Given the description of an element on the screen output the (x, y) to click on. 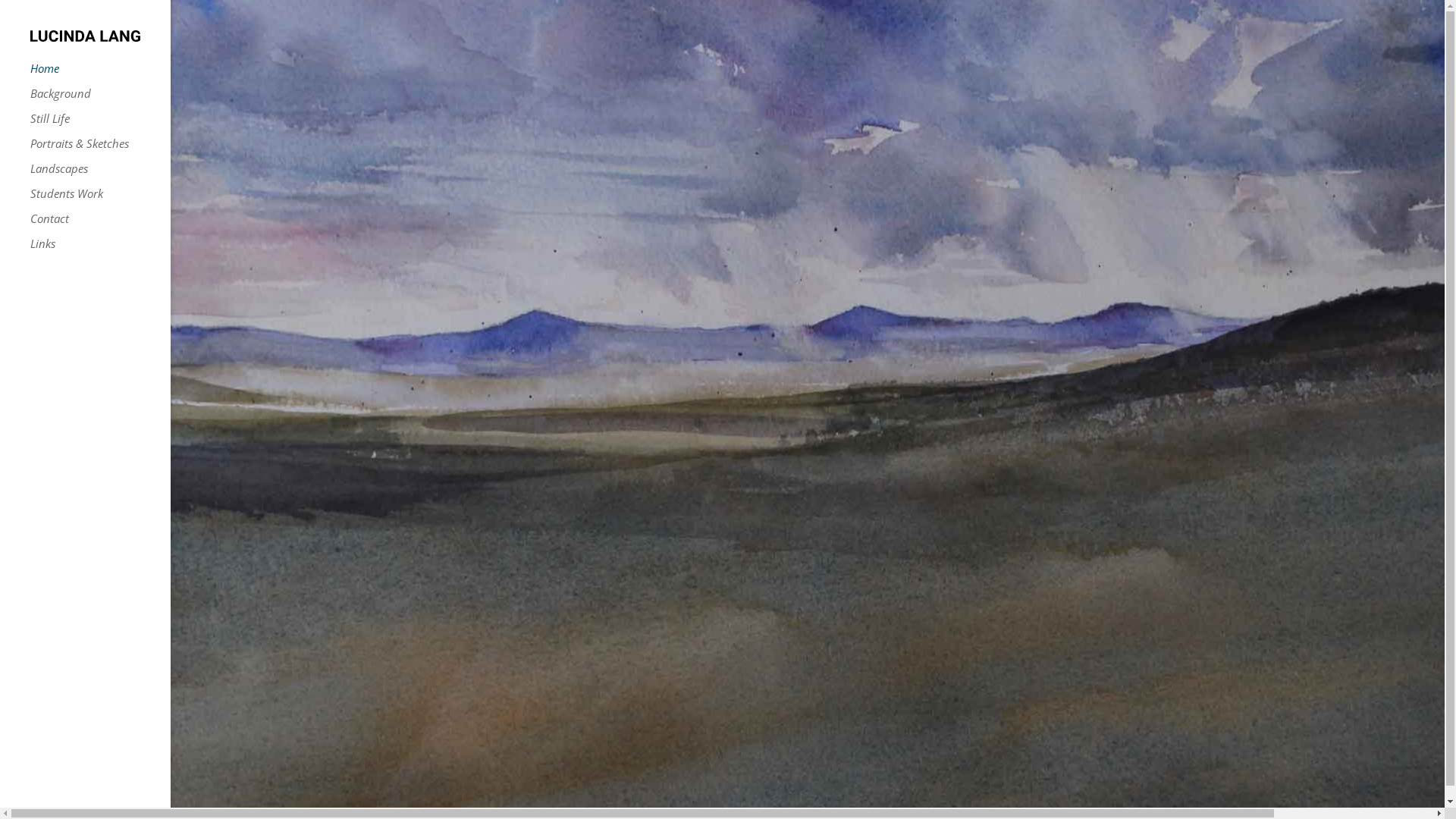
Contact Element type: text (100, 225)
Students Work Element type: text (100, 200)
Portraits & Sketches Element type: text (100, 150)
Background Element type: text (100, 99)
Landscapes Element type: text (100, 175)
Still Life Element type: text (100, 125)
Links Element type: text (100, 250)
Home Element type: text (100, 74)
